Given the description of an element on the screen output the (x, y) to click on. 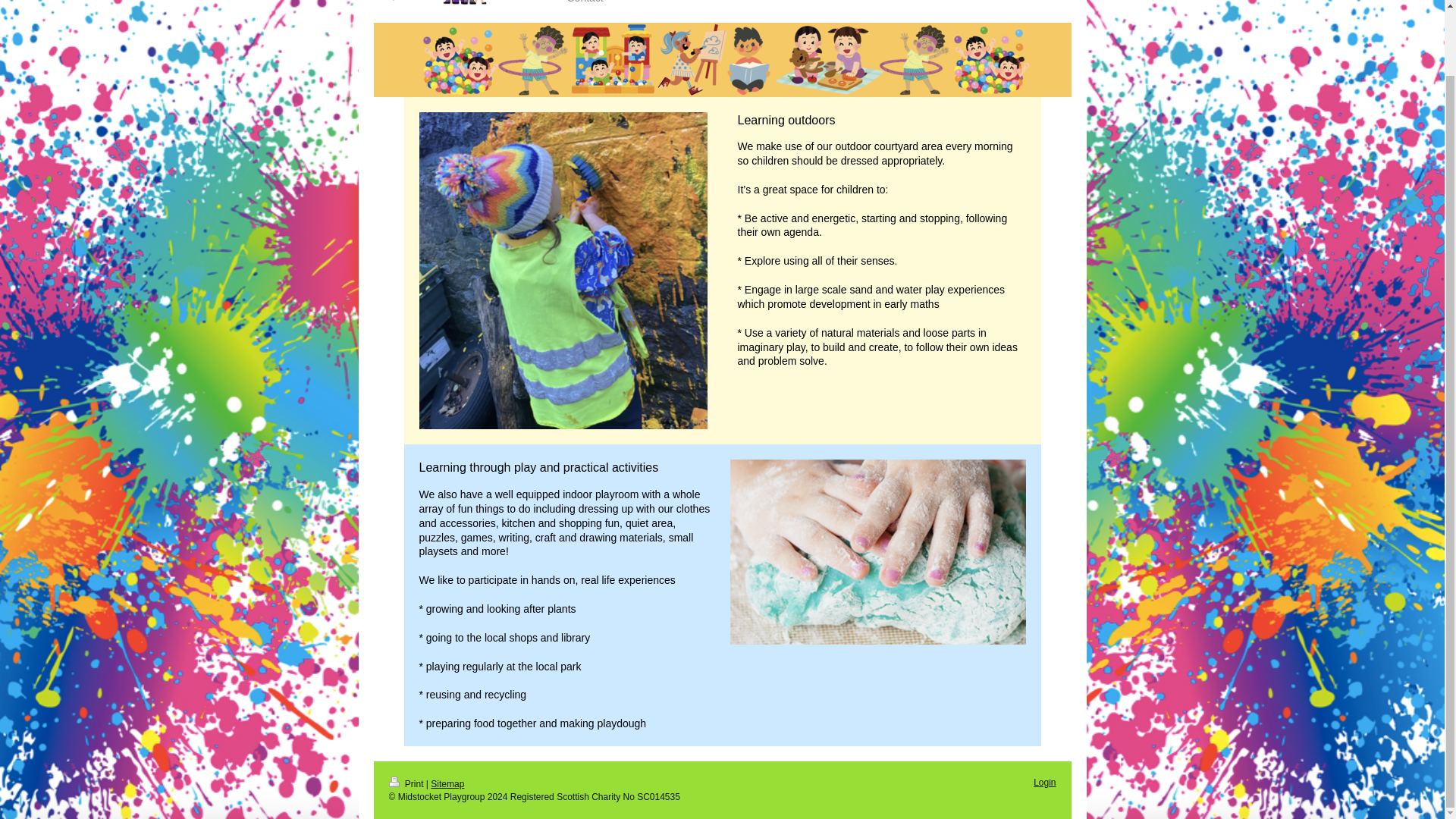
Print (406, 783)
Sitemap (447, 783)
Contact (584, 6)
Login (1044, 782)
